Given the description of an element on the screen output the (x, y) to click on. 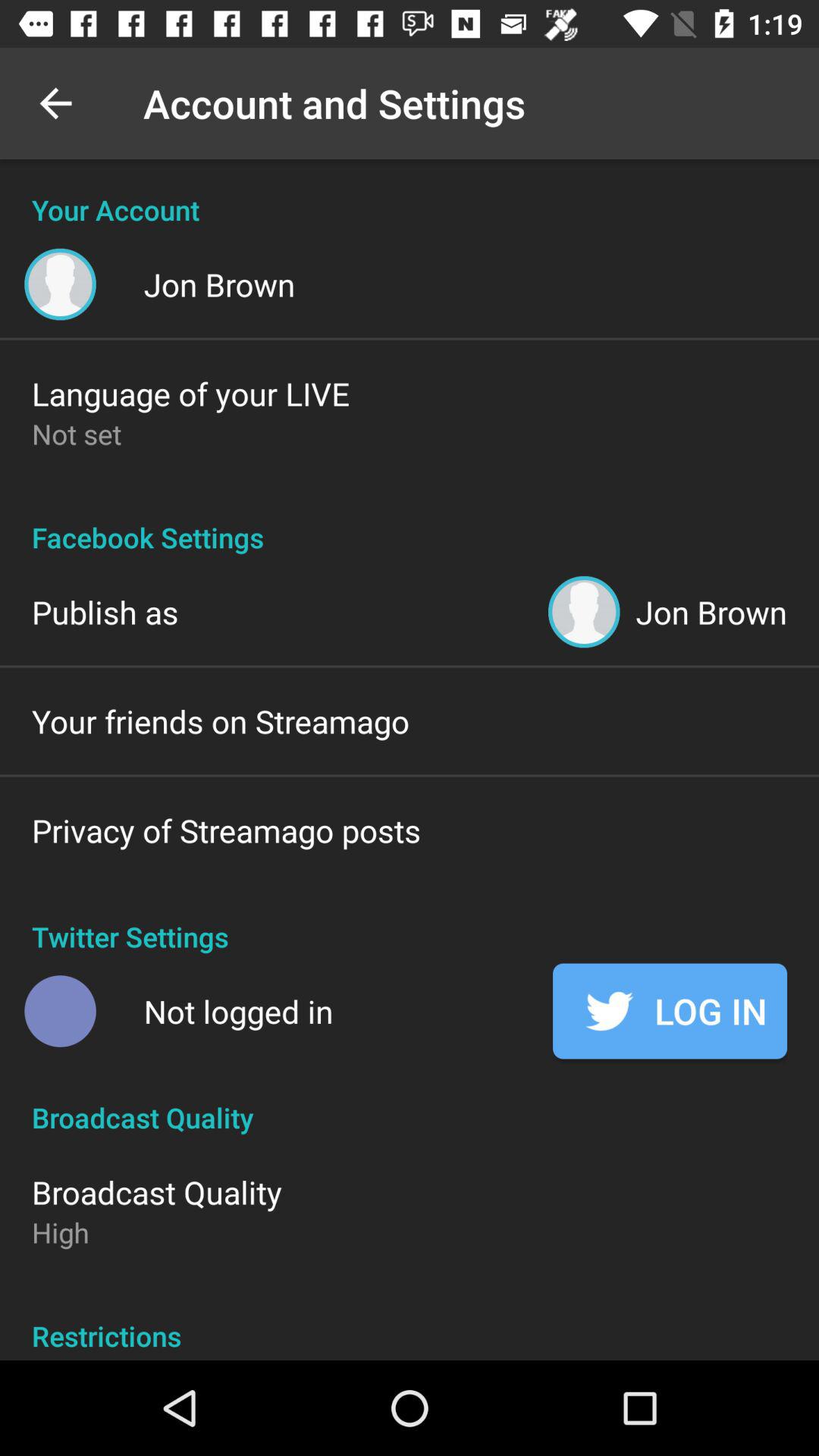
turn off icon below the twitter settings icon (669, 1011)
